Given the description of an element on the screen output the (x, y) to click on. 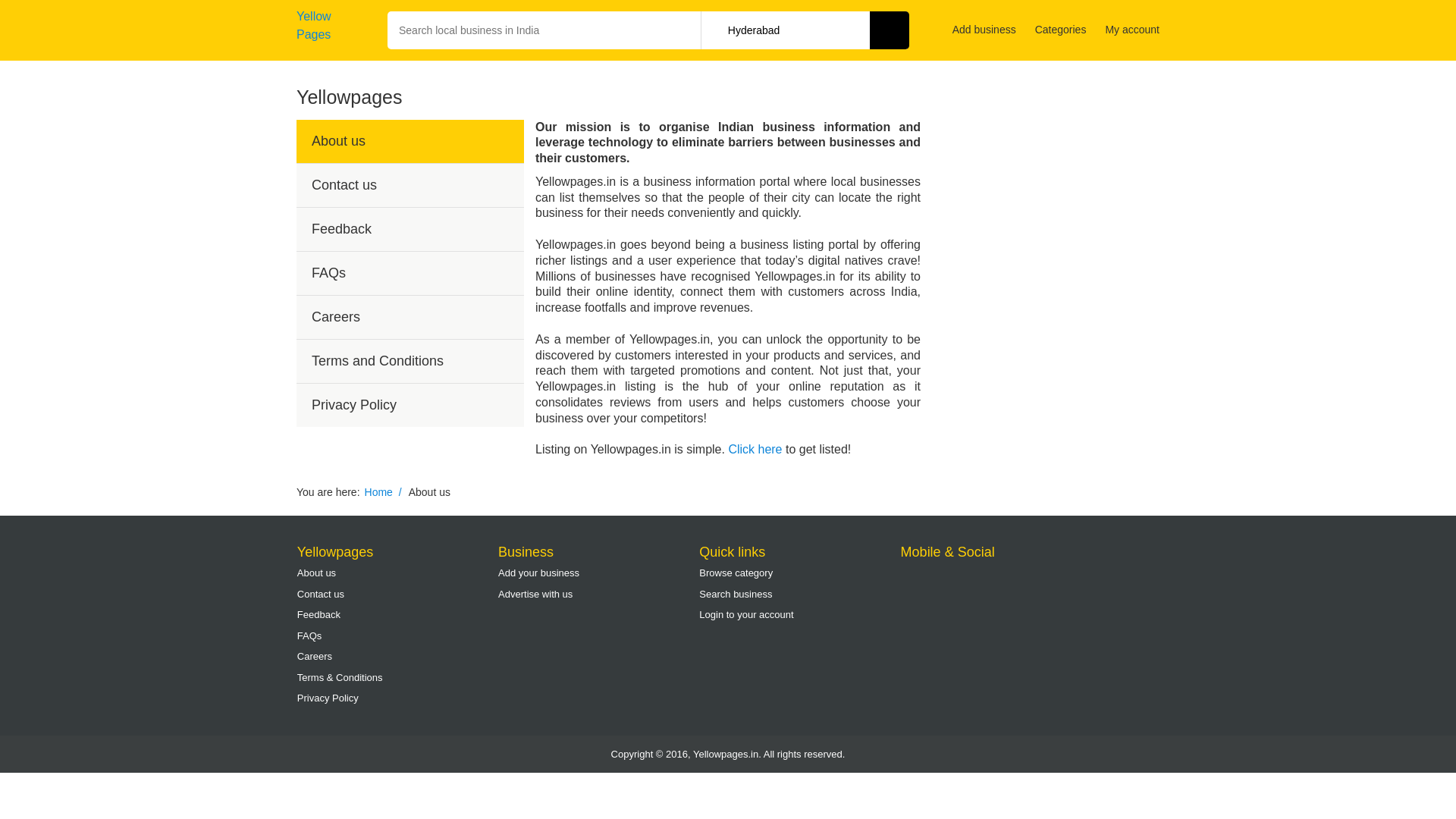
Google Plus (961, 577)
About us (410, 140)
Add your business (597, 572)
Careers (410, 317)
Privacy Policy (397, 698)
Hyderabad (804, 30)
Add business (984, 29)
My account (1131, 29)
FAQs (397, 636)
Terms and Conditions (410, 361)
